Given the description of an element on the screen output the (x, y) to click on. 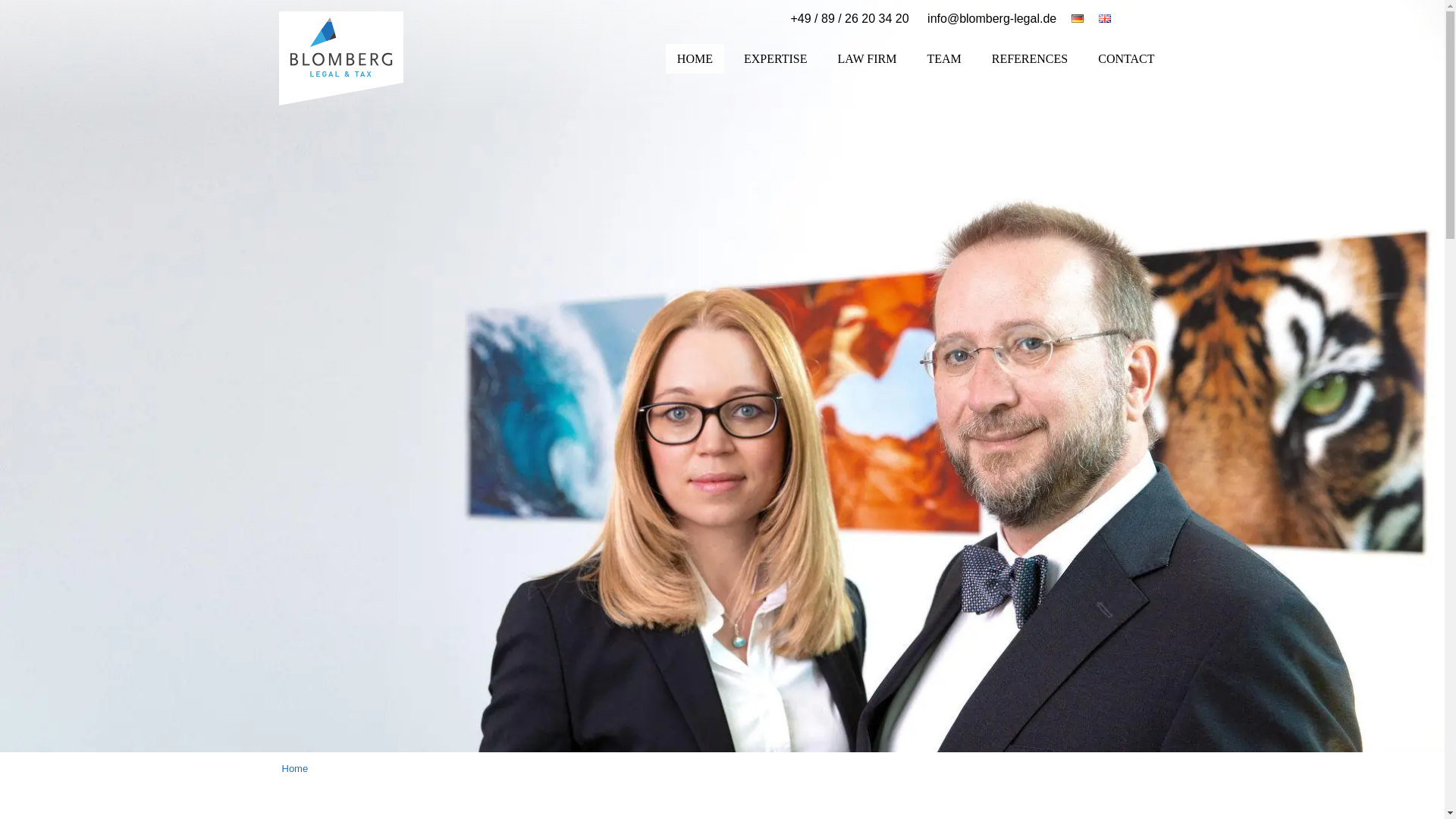
HOME (694, 58)
LAW FIRM (866, 58)
EXPERTISE (775, 58)
TEAM (943, 58)
REFERENCES (1028, 58)
CONTACT (1126, 58)
